Given the description of an element on the screen output the (x, y) to click on. 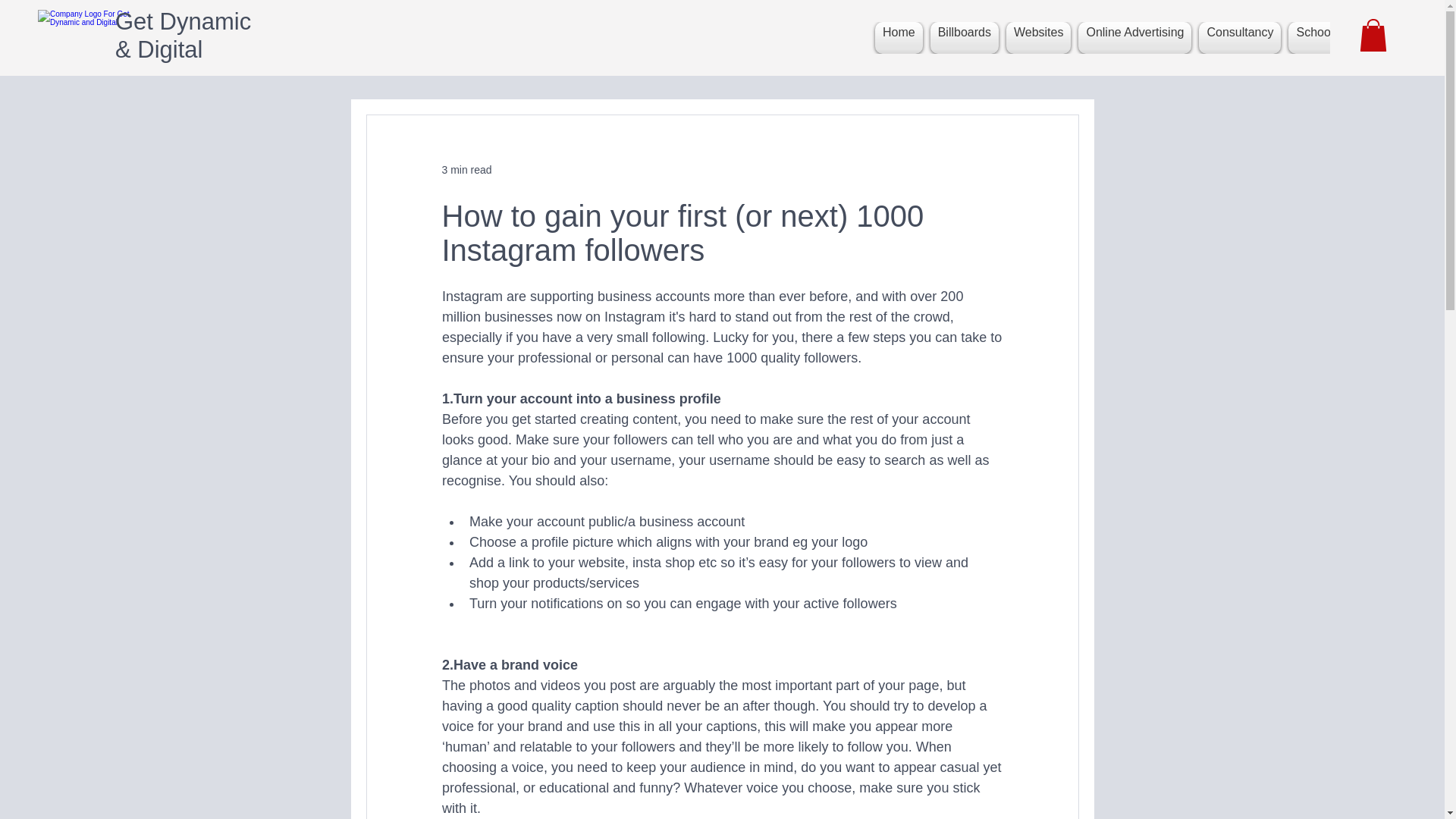
Get Dynamic (182, 21)
3 min read (466, 169)
School Fundraising (1347, 38)
Billboards (964, 38)
Consultancy (1239, 38)
Websites (1039, 38)
Home (898, 38)
Online Advertising (1134, 38)
